Given the description of an element on the screen output the (x, y) to click on. 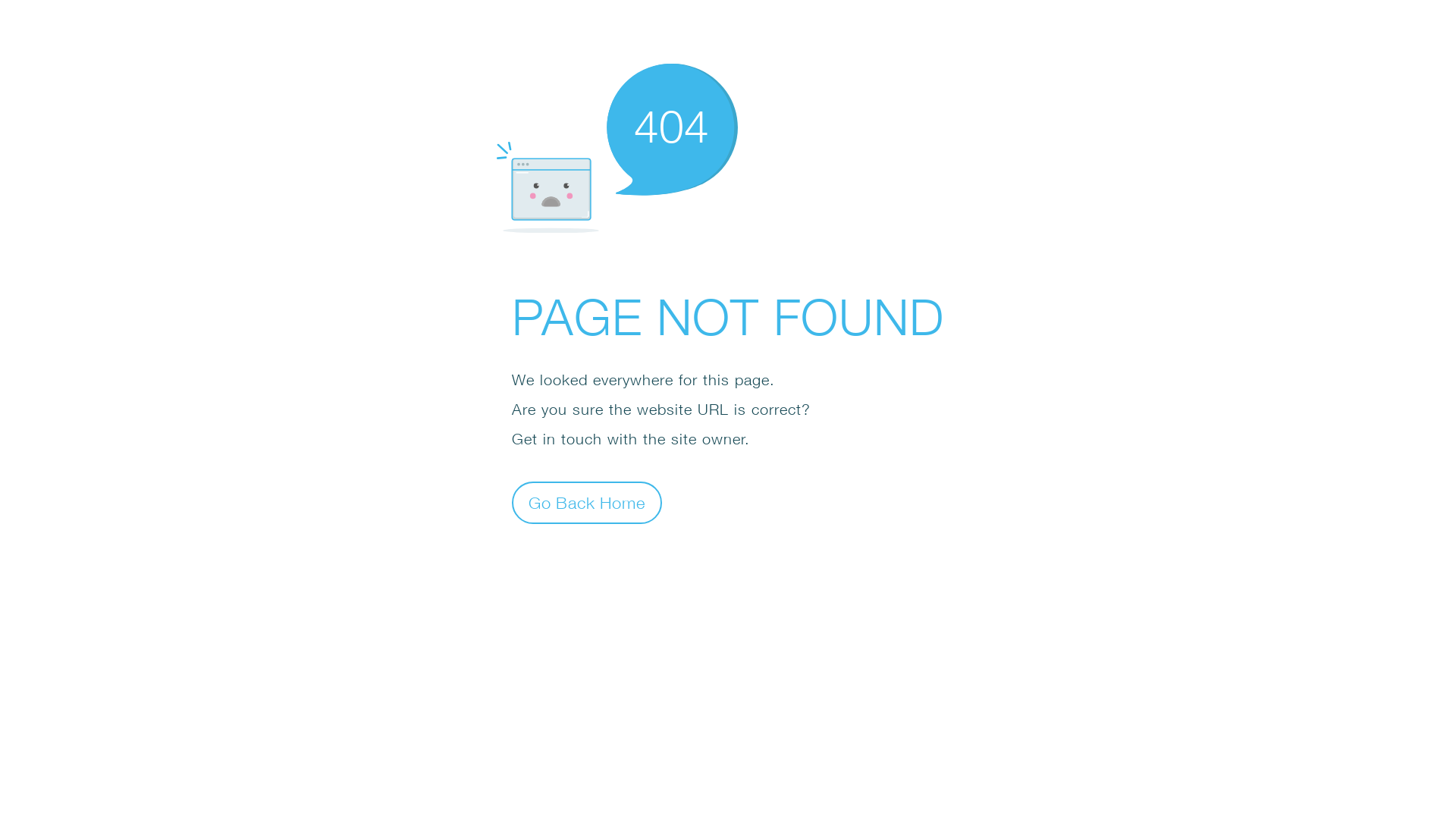
Go Back Home Element type: text (586, 502)
